Given the description of an element on the screen output the (x, y) to click on. 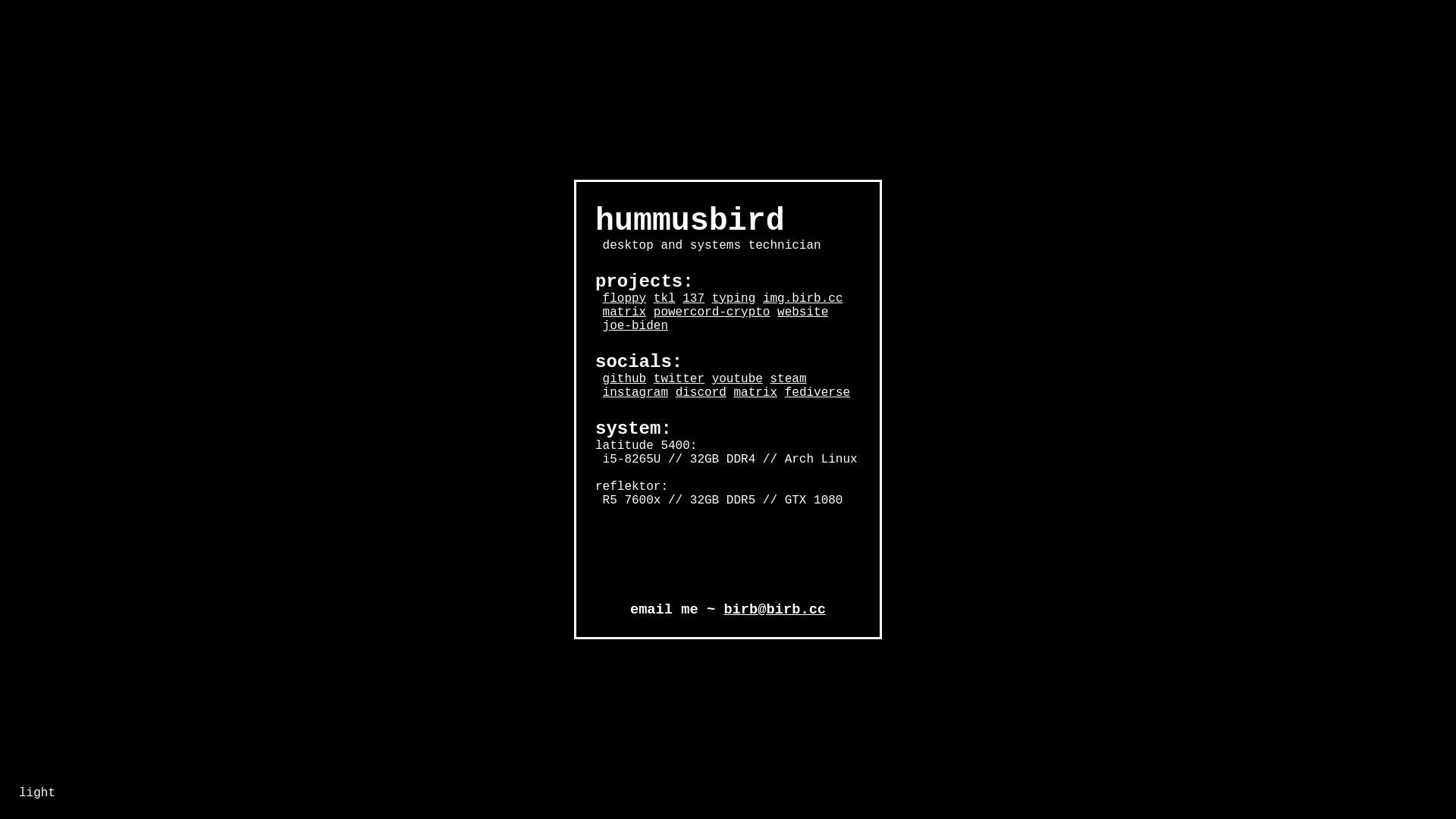
matrix Element type: text (755, 392)
birb@birb.cc Element type: text (774, 609)
typing Element type: text (734, 298)
floppy Element type: text (624, 298)
matrix Element type: text (624, 312)
tkl Element type: text (664, 298)
github Element type: text (624, 378)
steam Element type: text (787, 378)
fediverse Element type: text (817, 392)
powercord-crypto Element type: text (711, 312)
youtube Element type: text (737, 378)
instagram Element type: text (635, 392)
joe-biden Element type: text (635, 325)
website Element type: text (802, 312)
137 Element type: text (693, 298)
discord Element type: text (700, 392)
twitter Element type: text (678, 378)
img.birb.cc Element type: text (802, 298)
